Given the description of an element on the screen output the (x, y) to click on. 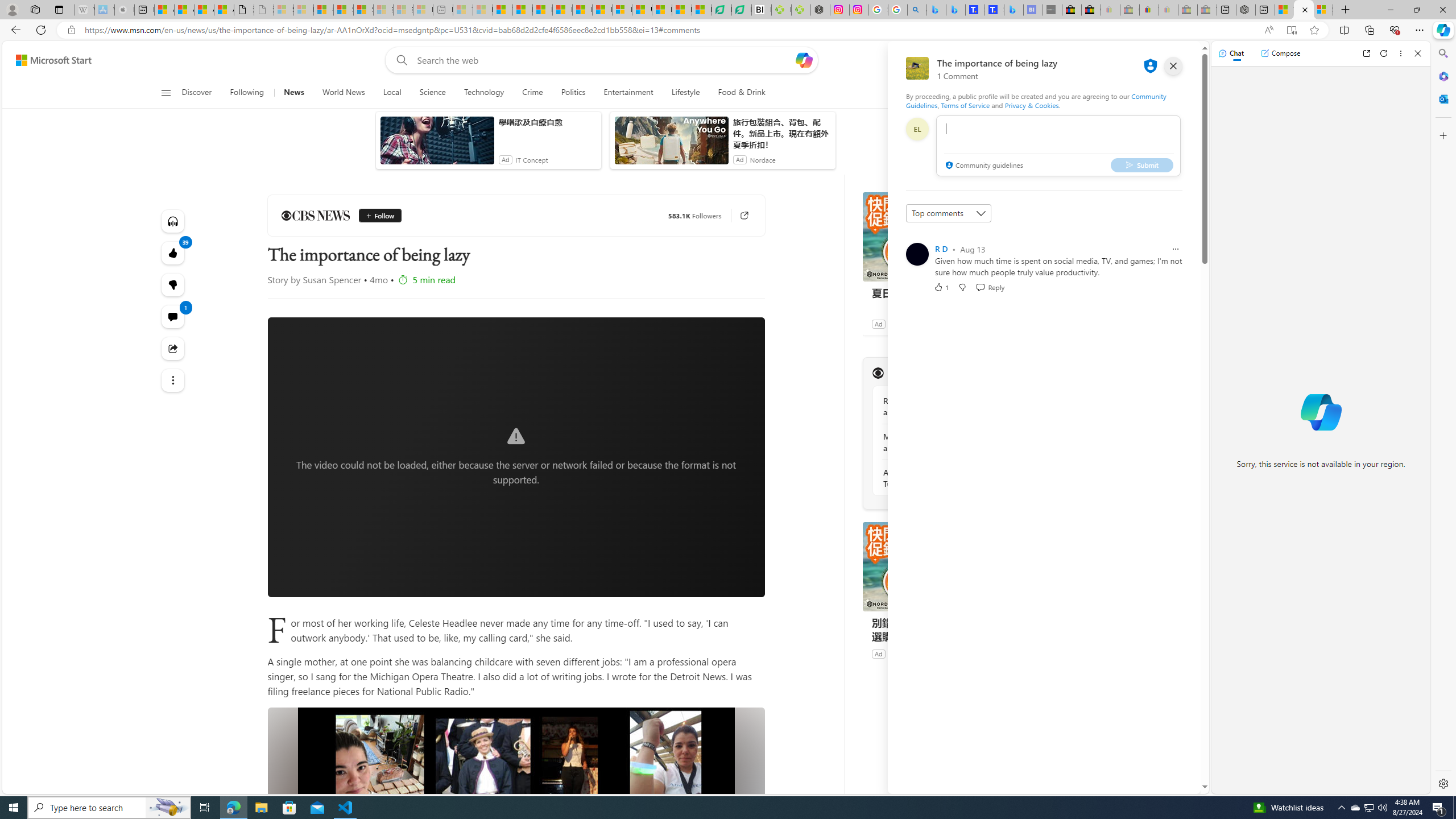
Microsoft Bing Travel - Stays in Bangkok, Bangkok, Thailand (954, 9)
alabama high school quarterback dies - Search (916, 9)
anim-content (671, 144)
CBS News (877, 372)
Sign in to your Microsoft account - Sleeping (283, 9)
Nordace - Nordace Edin Collection (820, 9)
